Given the description of an element on the screen output the (x, y) to click on. 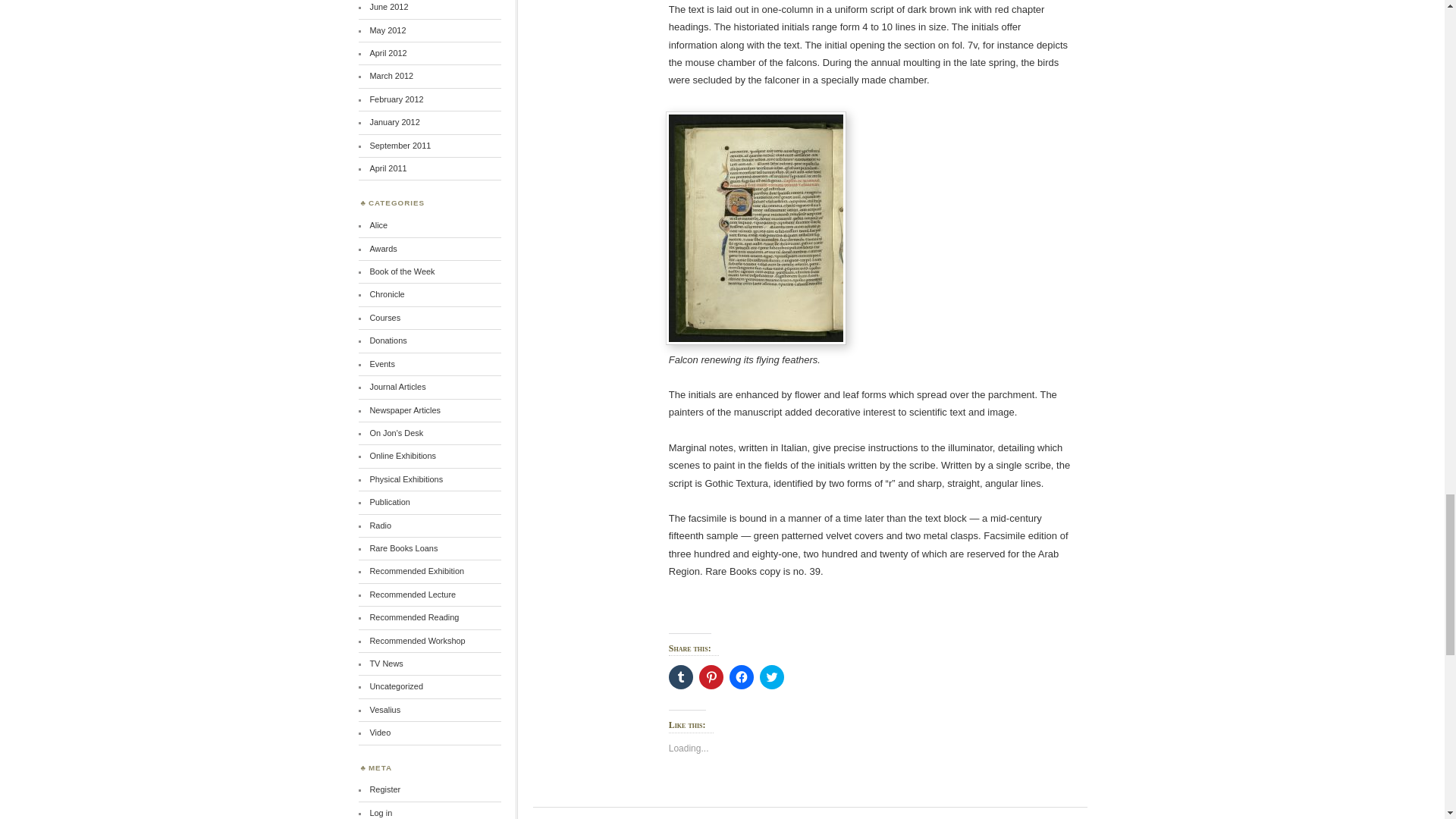
Click to share on Tumblr (680, 677)
Click to share on Twitter (772, 677)
Click to share on Facebook (741, 677)
Click to share on Pinterest (710, 677)
